Given the description of an element on the screen output the (x, y) to click on. 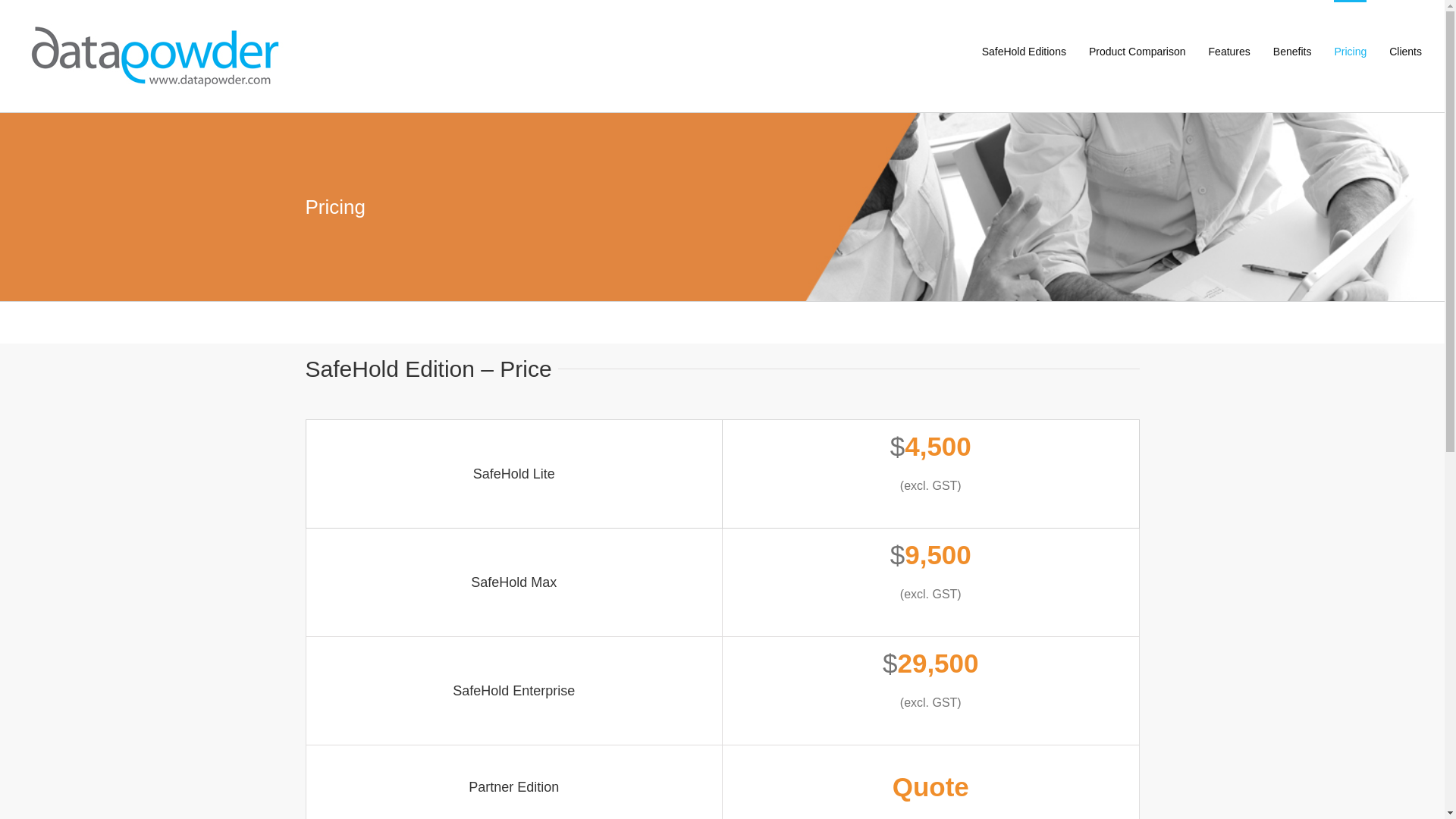
Product Comparison Element type: text (1137, 50)
Clients Element type: text (1405, 50)
Benefits Element type: text (1292, 50)
Features Element type: text (1229, 50)
Pricing Element type: text (1349, 50)
SafeHold Editions Element type: text (1024, 50)
